Given the description of an element on the screen output the (x, y) to click on. 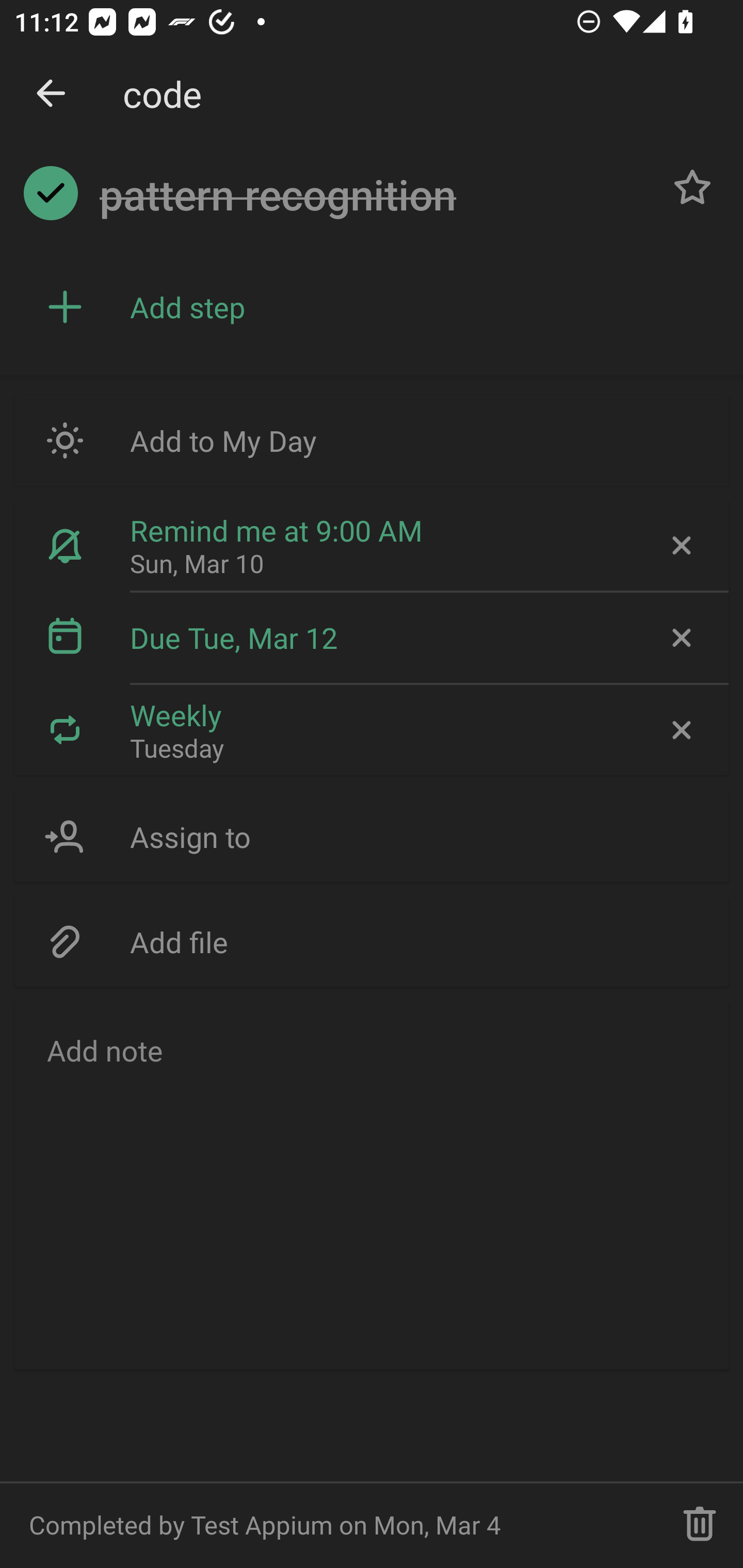
Dismiss detail view (50, 93)
Completed task pattern recognition, Button (50, 192)
pattern recognition (374, 195)
Normal task pattern recognition, Button (692, 187)
Add step (422, 307)
Add to My Day (371, 440)
Remind me at 9:00 AM Sun, Mar 10 Remove reminder (371, 545)
Remove reminder (679, 545)
Due Tue, Mar 12 Due Tue, Mar 12 Remove due date (371, 637)
Remove due date (679, 637)
Remove recurrence (679, 729)
Assign to (371, 836)
Add file (371, 941)
Add note, Button Email Renderer Add note (371, 1184)
Delete task (699, 1524)
